Given the description of an element on the screen output the (x, y) to click on. 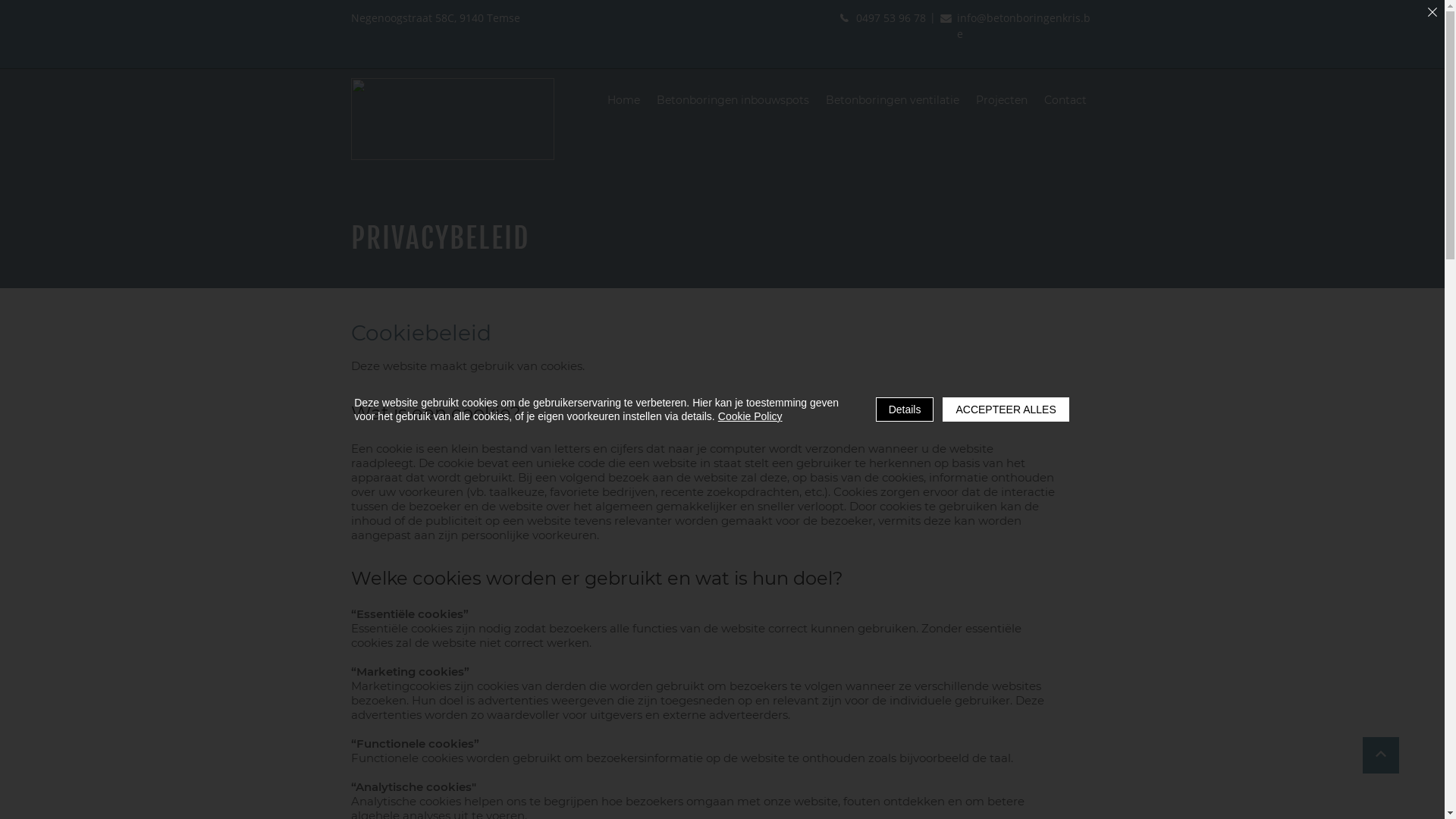
Home Element type: text (622, 100)
0497 53 96 78 Element type: text (890, 17)
Betonboringen inbouwspots Element type: text (732, 100)
Betonboringen ventilatie Element type: text (891, 100)
info@betonboringenkris.be Element type: text (1023, 25)
Projecten Element type: text (1000, 100)
Contact Element type: text (1064, 100)
